Given the description of an element on the screen output the (x, y) to click on. 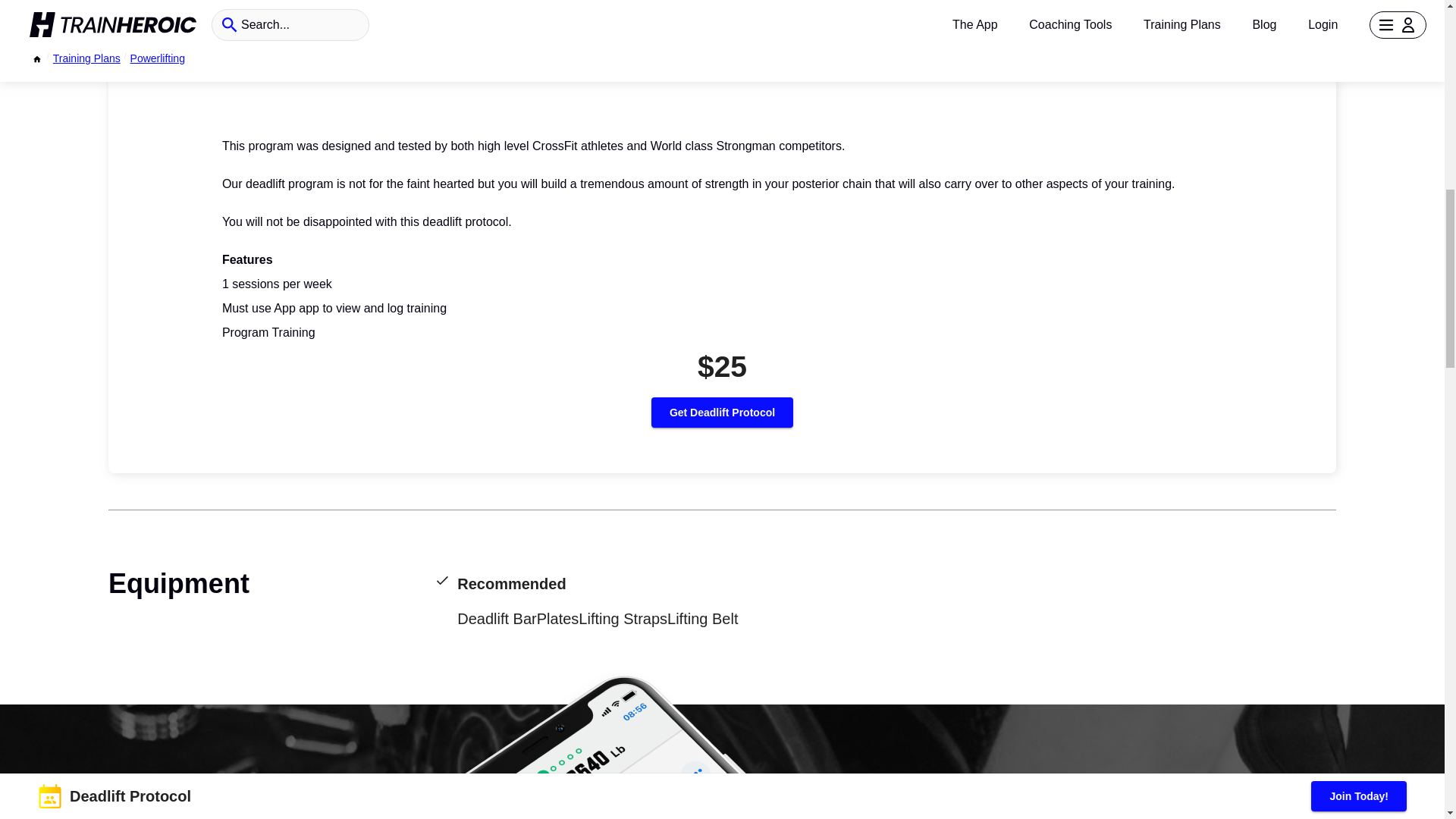
Get Deadlift Protocol (721, 412)
